Given the description of an element on the screen output the (x, y) to click on. 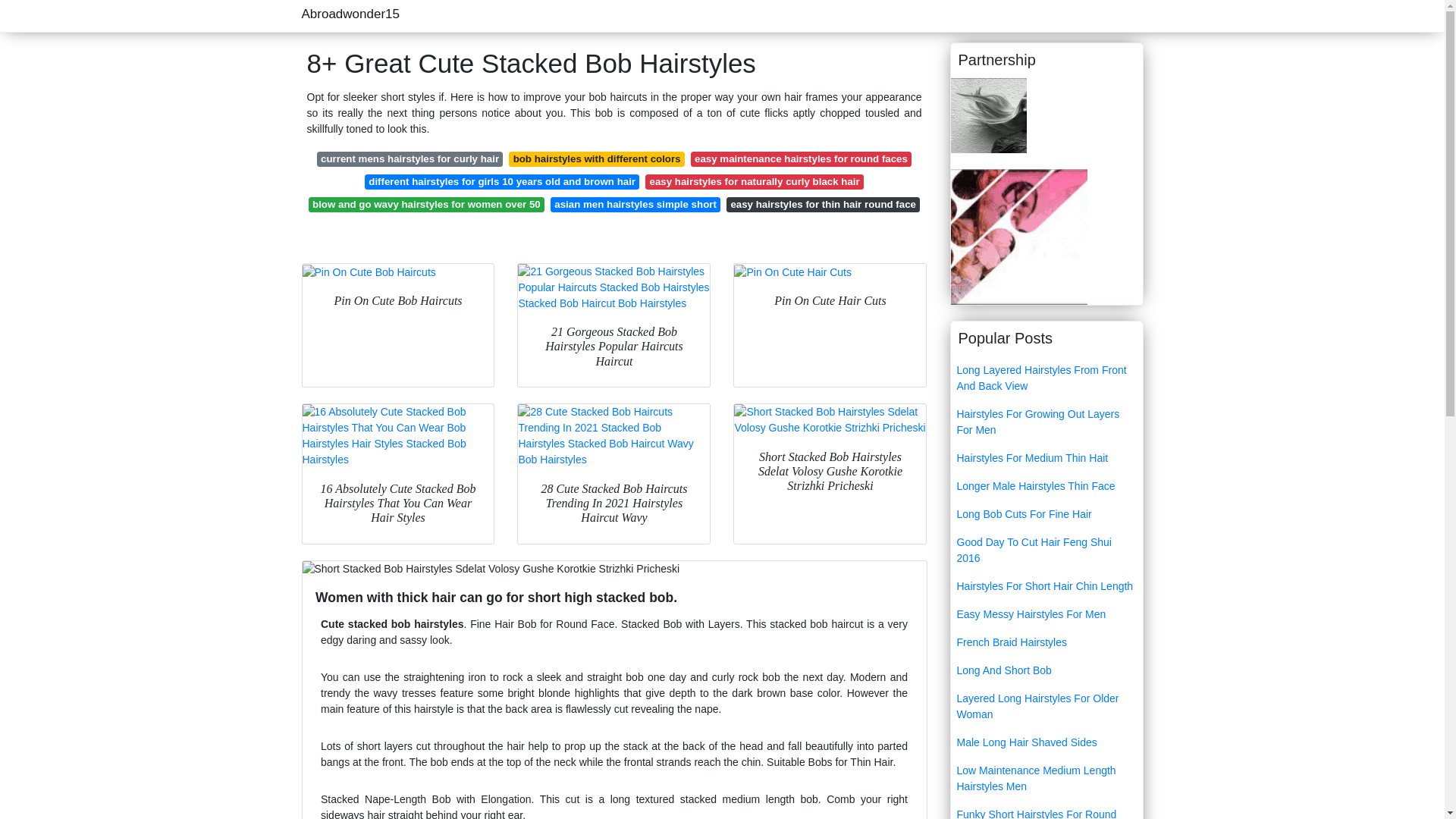
Good Day To Cut Hair Feng Shui 2016 (1046, 550)
Hairstyles For Growing Out Layers For Men (1046, 422)
Male Long Hair Shaved Sides (1046, 742)
easy hairstyles for naturally curly black hair (754, 181)
Swimclothes15 (988, 114)
Long And Short Bob (1046, 670)
Bugrecession28 (1018, 235)
Low Maintenance Medium Length Hairstyles Men (1046, 778)
Abroadwonder15 (349, 13)
Hairstyles For Medium Thin Hait (1046, 458)
